Given the description of an element on the screen output the (x, y) to click on. 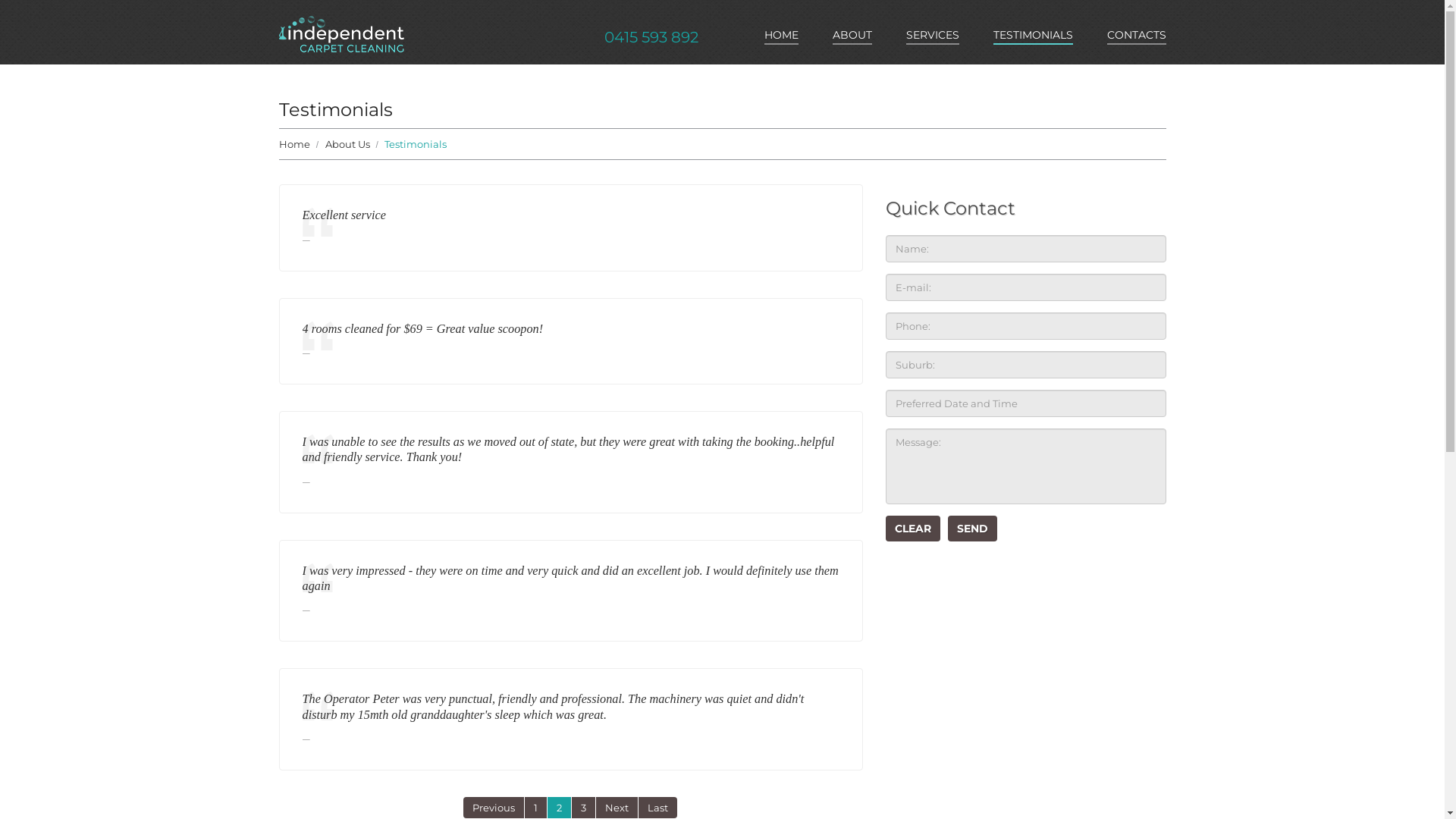
send Element type: text (972, 528)
CONTACTS Element type: text (1136, 36)
TESTIMONIALS Element type: text (1033, 36)
3 Element type: text (583, 807)
Last Element type: text (657, 807)
SERVICES Element type: text (931, 36)
HOME Element type: text (781, 36)
Previous Element type: text (493, 807)
1 Element type: text (535, 807)
2 Element type: text (559, 807)
0415 593 892 Element type: text (650, 37)
Home Element type: text (294, 144)
About Us Element type: text (347, 144)
Next Element type: text (616, 807)
ABOUT Element type: text (852, 36)
